Given the description of an element on the screen output the (x, y) to click on. 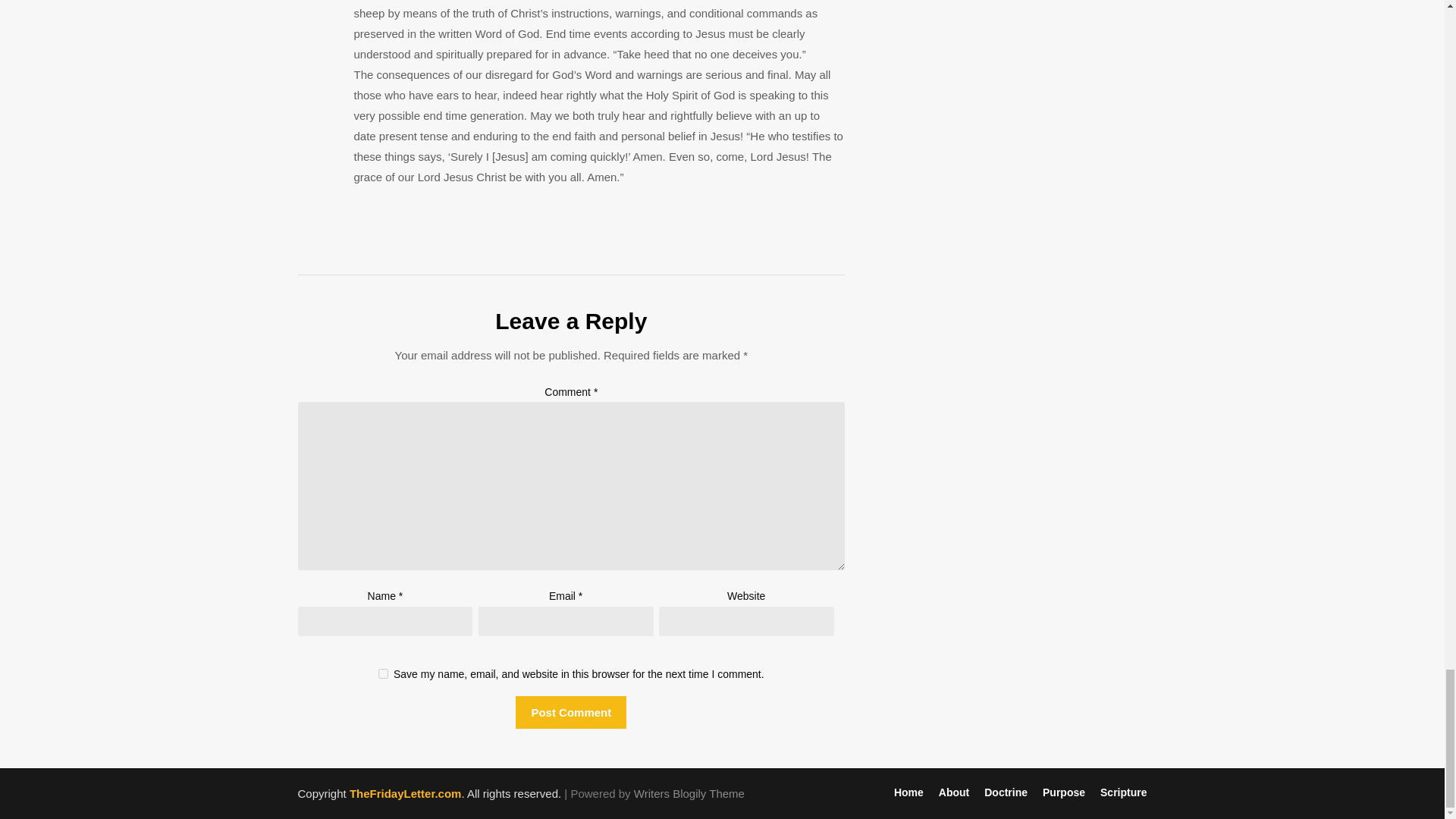
yes (383, 673)
Post Comment (570, 712)
